Given the description of an element on the screen output the (x, y) to click on. 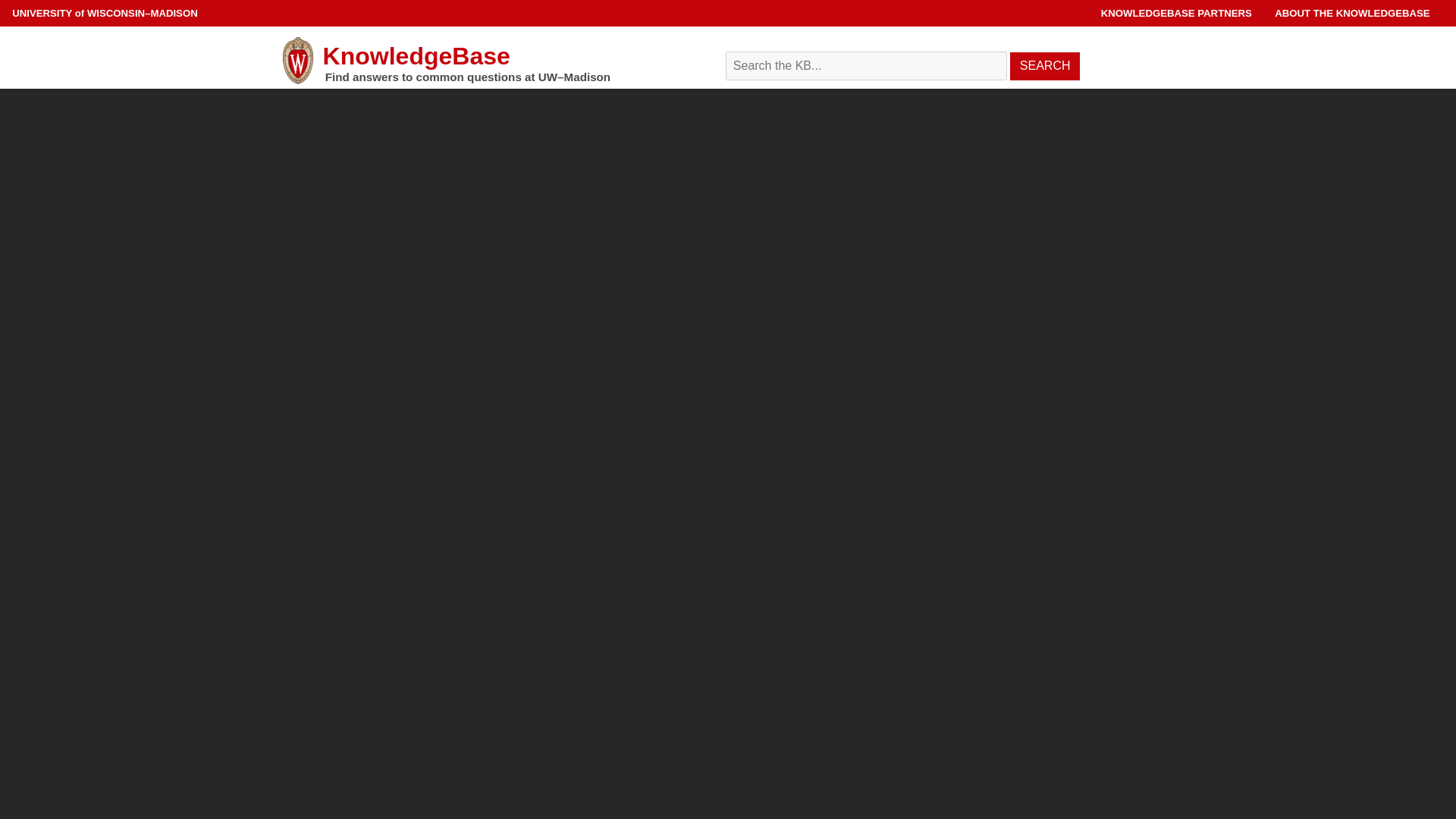
KnowledgeBase (493, 60)
KNOWLEDGEBASE PARTNERS (1176, 12)
SEARCH (1045, 66)
SEARCH (1045, 66)
SEARCH (1045, 66)
Search (947, 56)
ABOUT THE KNOWLEDGEBASE (1352, 12)
